Given the description of an element on the screen output the (x, y) to click on. 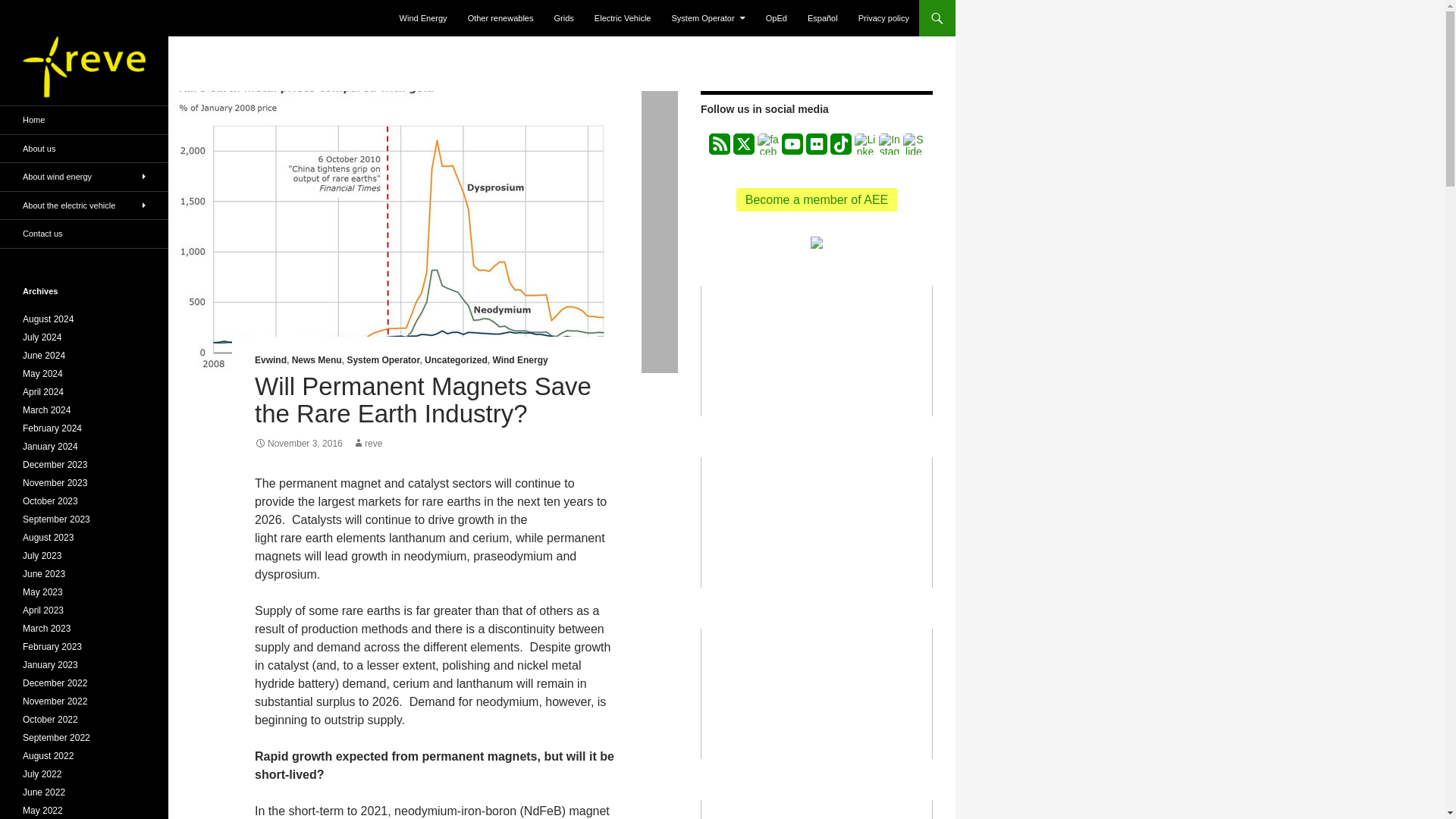
Instagram (889, 143)
Evwind (270, 359)
reve (366, 443)
System Operator (382, 359)
Electric Vehicle (623, 18)
Wind Energy (519, 359)
RSS (719, 143)
News Menu (317, 359)
Uncategorized (456, 359)
flickr (816, 143)
